Given the description of an element on the screen output the (x, y) to click on. 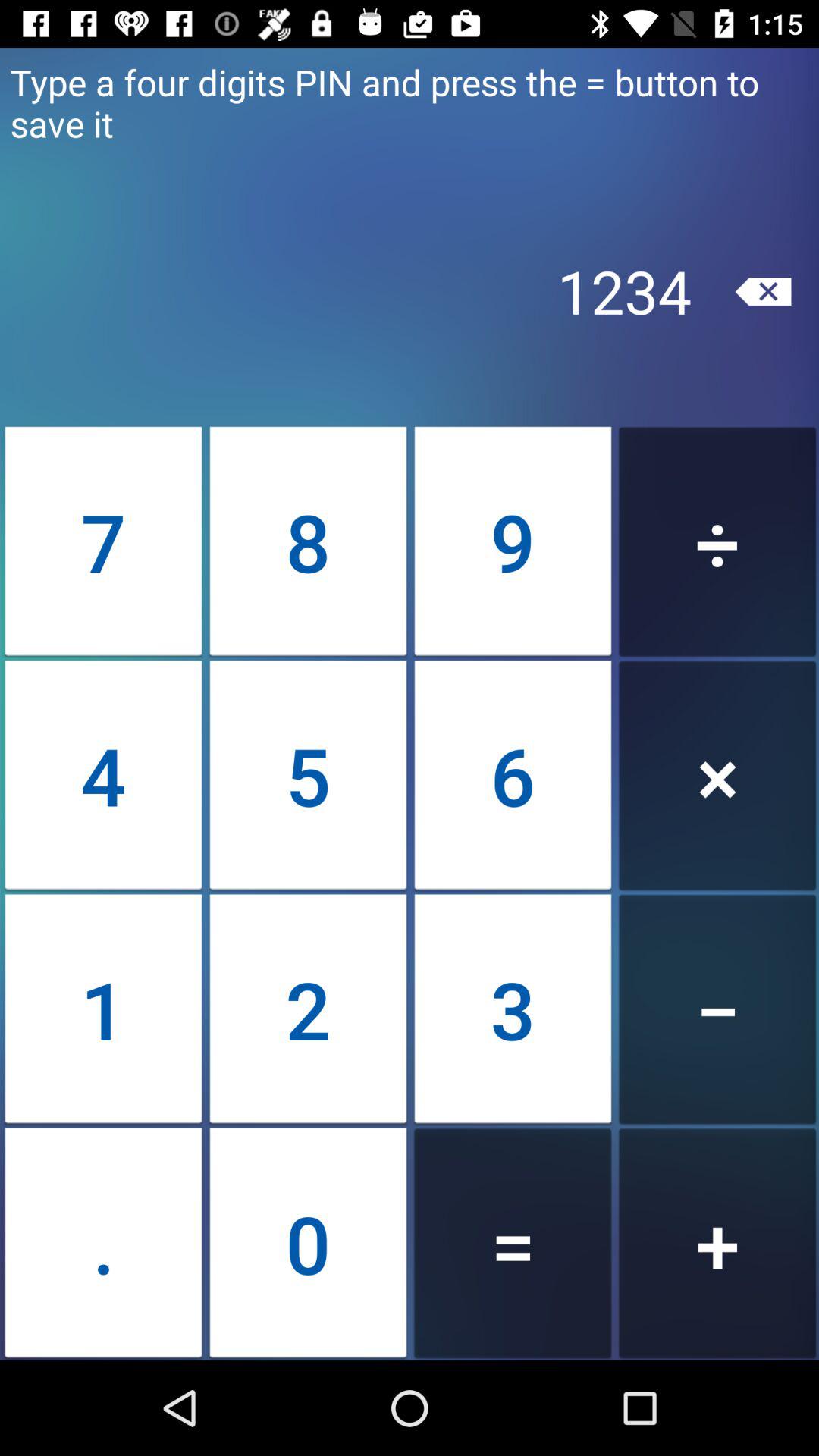
press for backspace (763, 291)
